Given the description of an element on the screen output the (x, y) to click on. 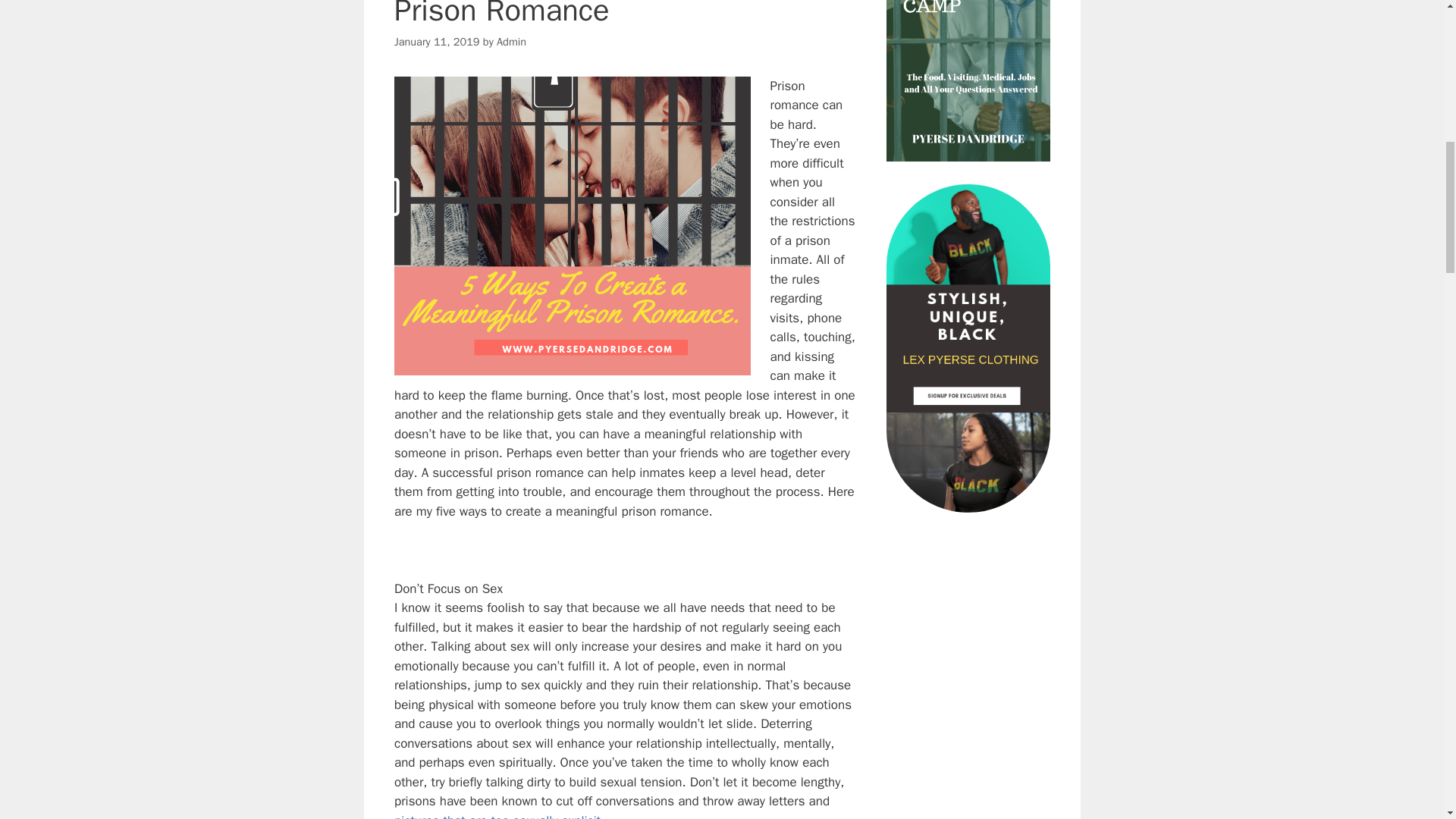
Admin (510, 41)
View all posts by Admin (510, 41)
Scroll back to top (1406, 720)
pictures that are too sexually explicit (496, 816)
